Given the description of an element on the screen output the (x, y) to click on. 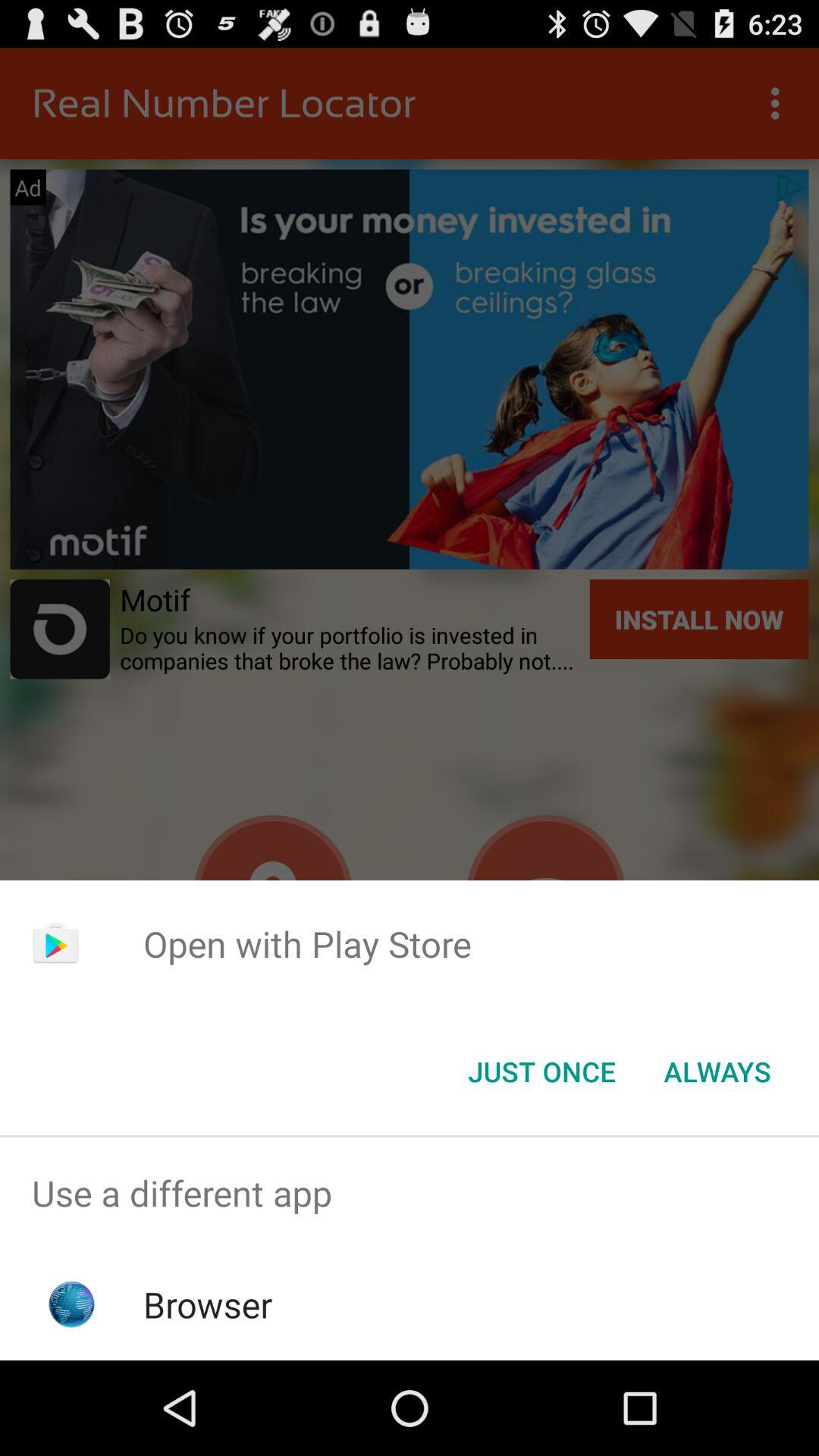
turn off browser icon (207, 1304)
